Given the description of an element on the screen output the (x, y) to click on. 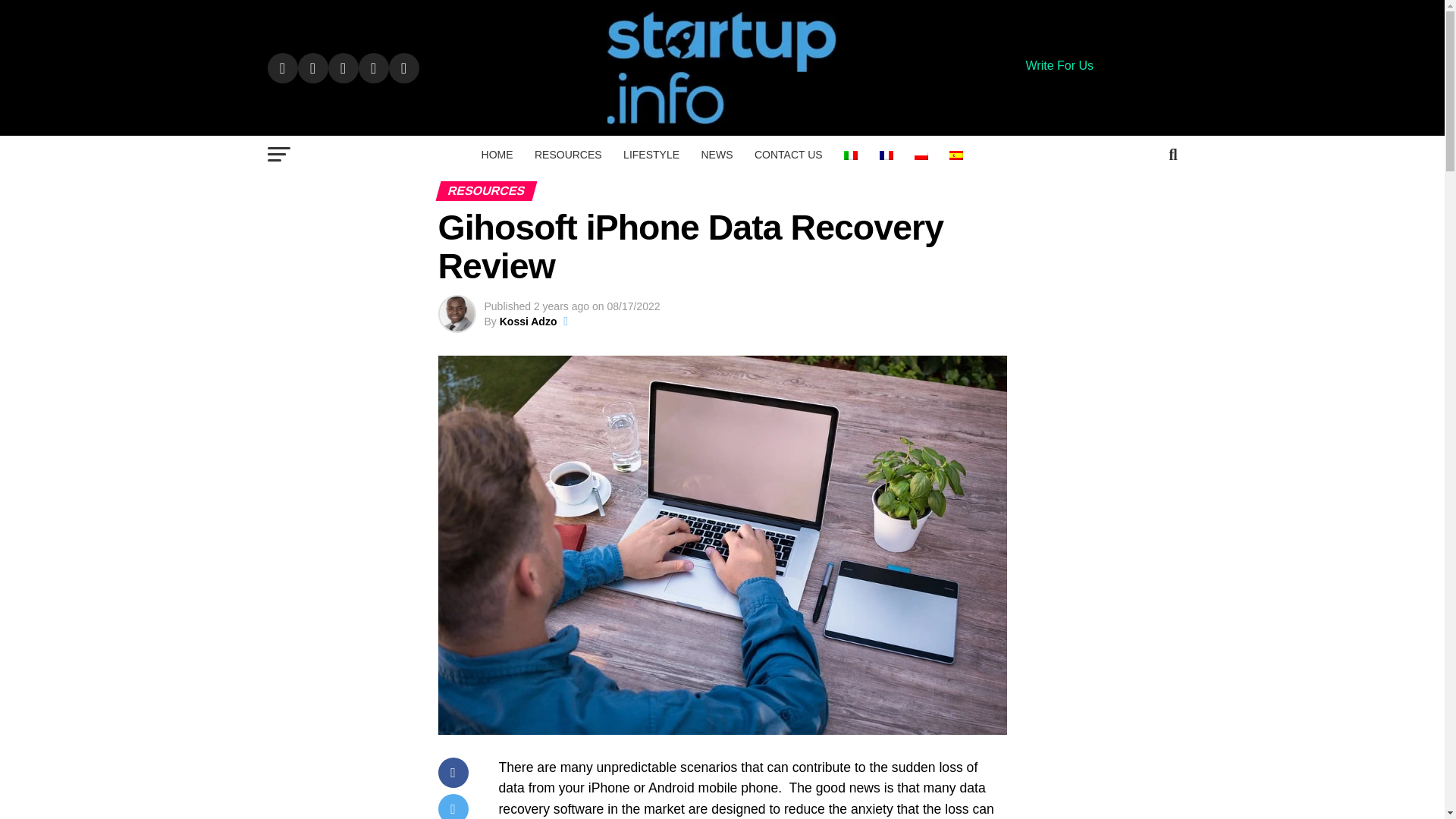
NEWS (716, 154)
LIFESTYLE (651, 154)
RESOURCES (568, 154)
HOME (496, 154)
Write For Us (1059, 65)
